Given the description of an element on the screen output the (x, y) to click on. 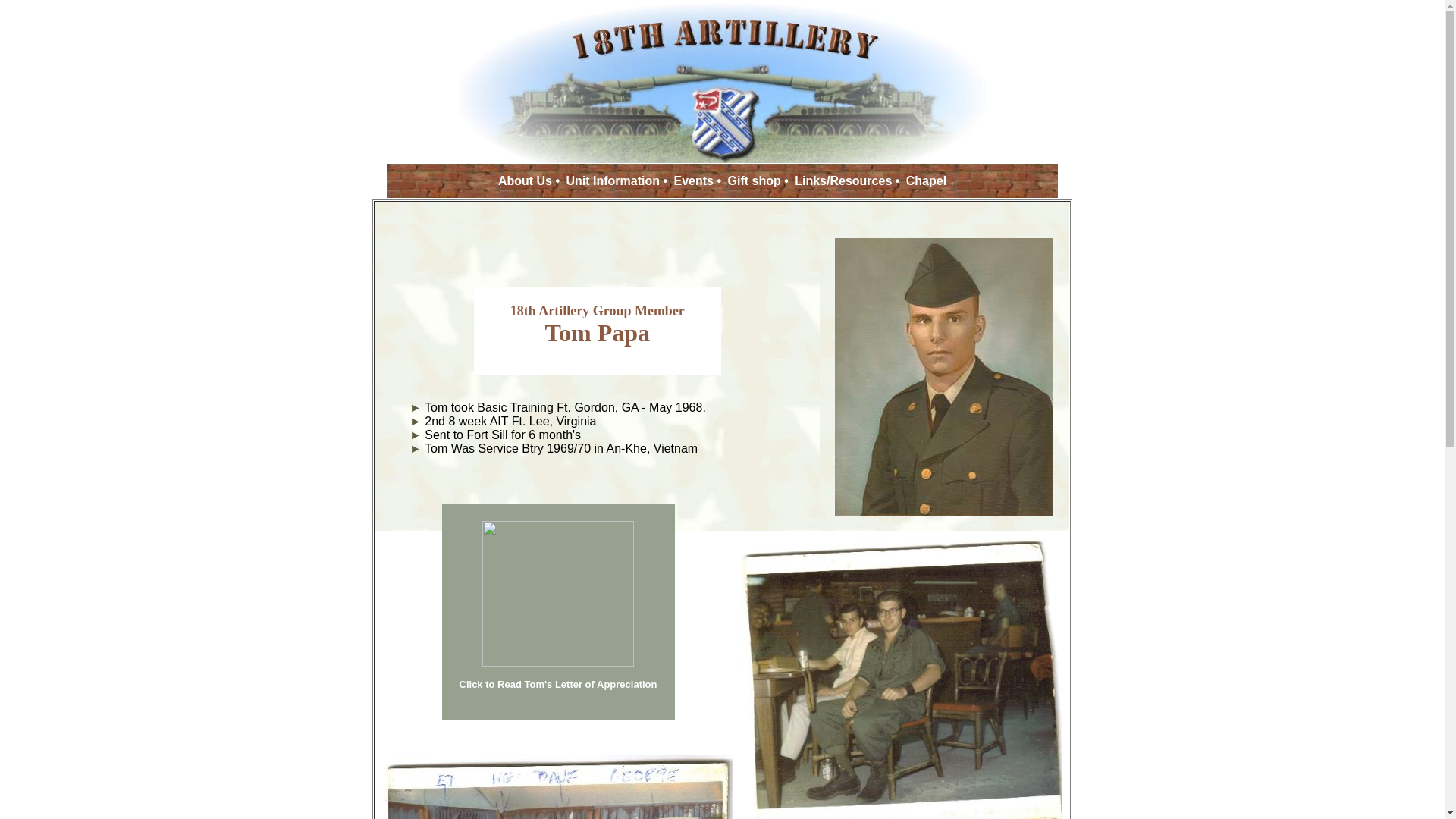
About Us Element type: text (525, 180)
Click to Read Tom's Letter of Appreciation Element type: text (558, 684)
Unit Information Element type: text (612, 180)
Events Element type: text (693, 180)
Links/Resources Element type: text (842, 180)
Gift shop Element type: text (754, 180)
Chapel Element type: text (926, 180)
